Given the description of an element on the screen output the (x, y) to click on. 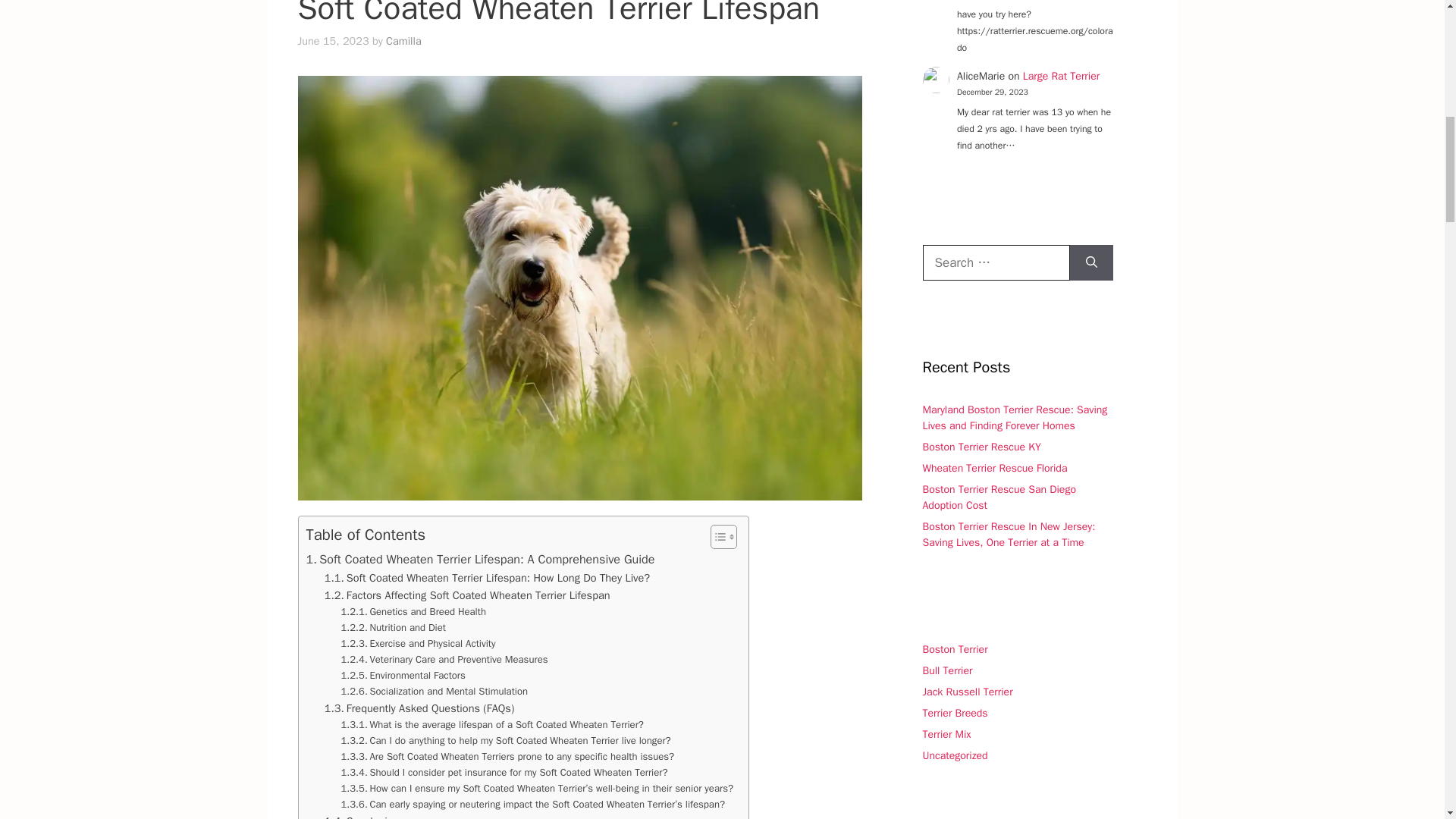
Nutrition and Diet (392, 627)
Soft Coated Wheaten Terrier Lifespan: How Long Do They Live? (486, 578)
Soft Coated Wheaten Terrier Lifespan: A Comprehensive Guide (480, 559)
Nutrition and Diet (392, 627)
Socialization and Mental Stimulation (434, 691)
Environmental Factors (402, 675)
